Given the description of an element on the screen output the (x, y) to click on. 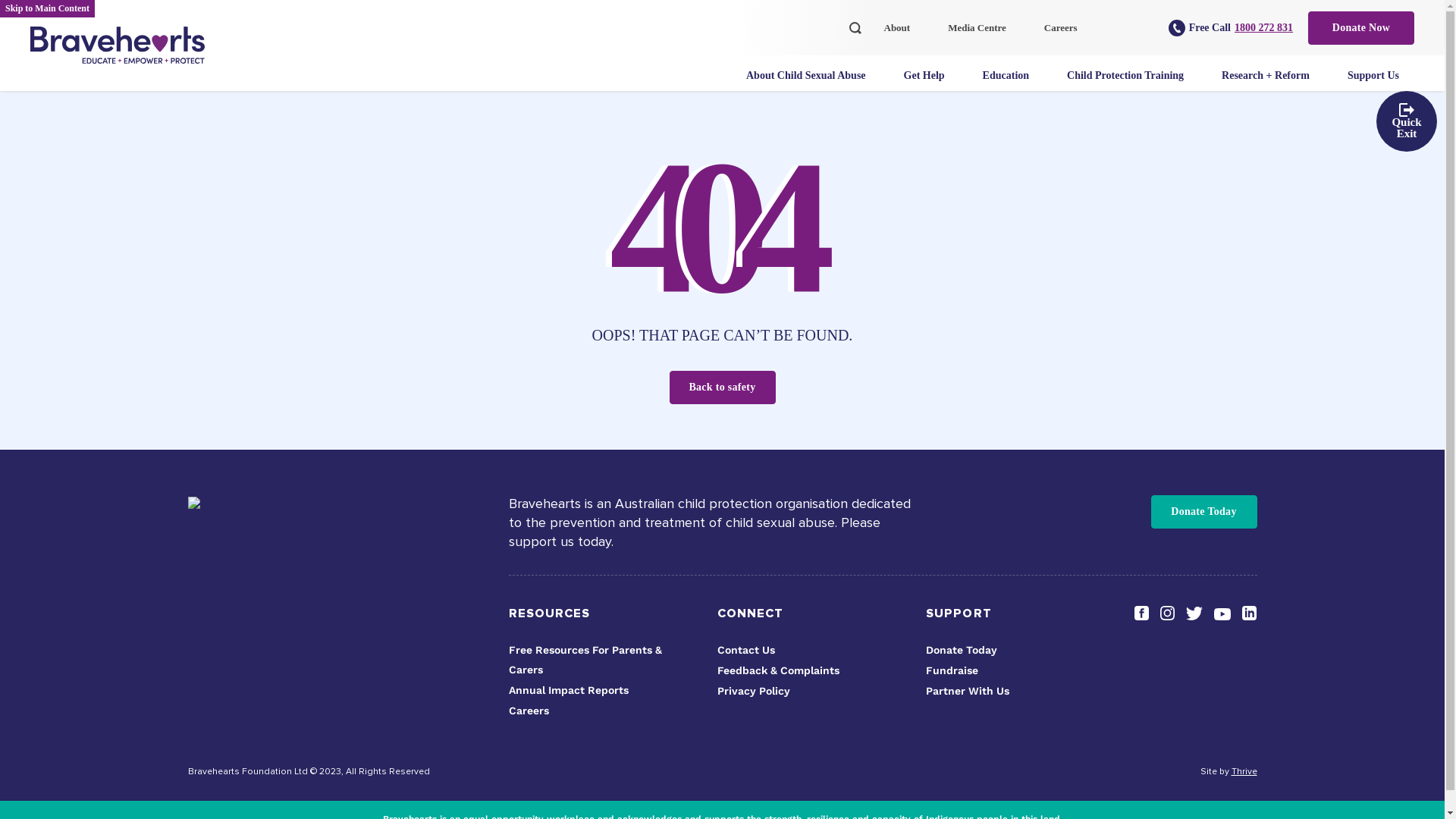
Free Resources For Parents & Carers Element type: text (584, 659)
Child Protection Training Element type: text (1128, 86)
Fundraise Element type: text (951, 670)
Contact Us Element type: text (746, 649)
Careers Element type: text (1064, 38)
Free Call
1800 272 831 Element type: text (1230, 27)
Feedback & Complaints Element type: text (778, 670)
Thrive Element type: text (1244, 771)
Donate Today Element type: text (1204, 511)
Donate Today Element type: text (961, 649)
Education Element type: text (1009, 86)
Annual Impact Reports Element type: text (567, 690)
Privacy Policy Element type: text (753, 690)
About Child Sexual Abuse Element type: text (809, 86)
Support Us Element type: text (1376, 86)
About Element type: text (901, 38)
Media Centre Element type: text (980, 38)
Back to safety Element type: text (721, 387)
Donate Now Element type: text (1361, 26)
Research + Reform Element type: text (1269, 86)
Careers Element type: text (528, 710)
Skip to Main Content Element type: text (47, 8)
Quick Exit Element type: text (1406, 121)
Get Help Element type: text (927, 86)
Partner With Us Element type: text (967, 690)
